Given the description of an element on the screen output the (x, y) to click on. 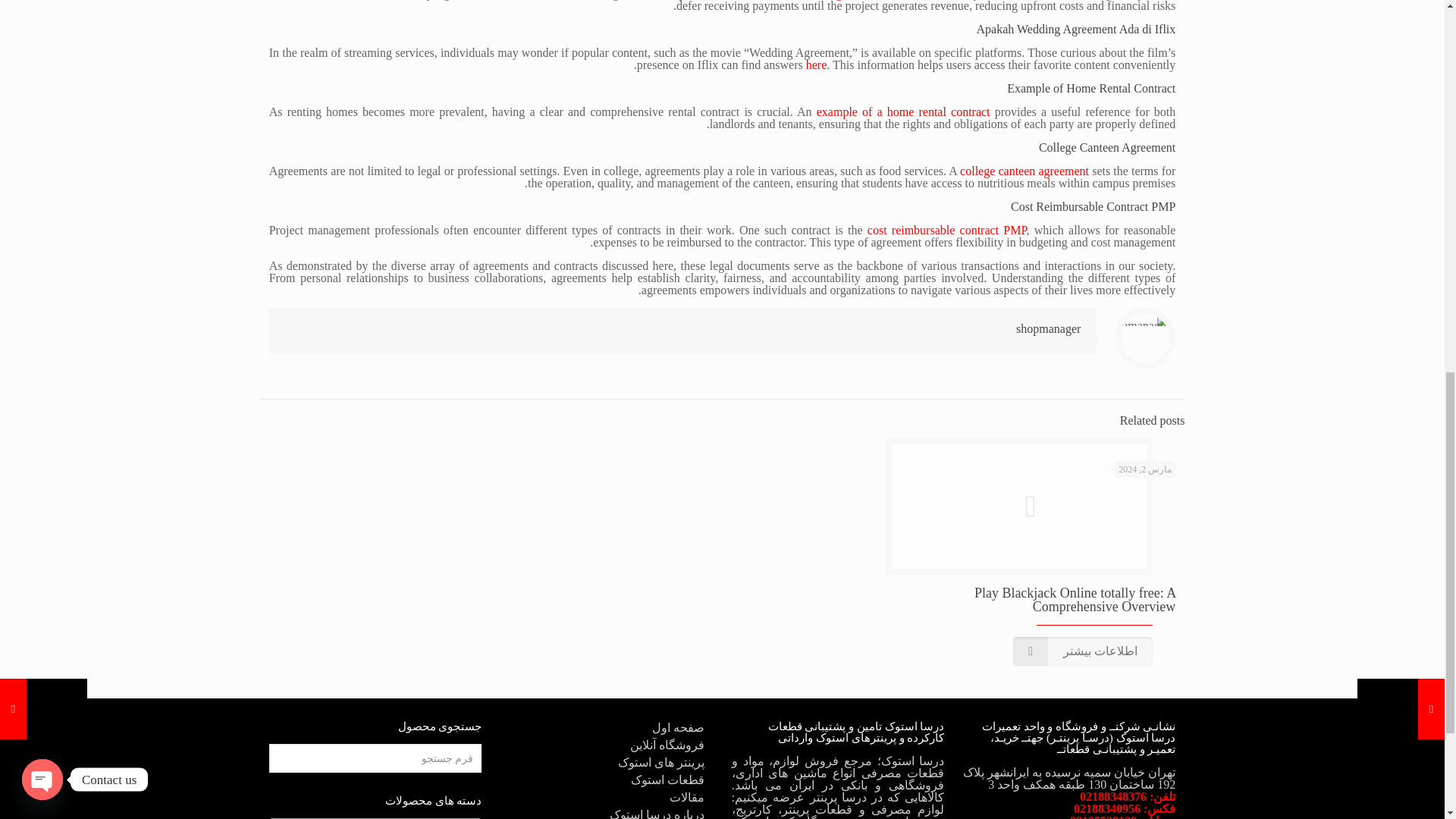
cost reimbursable contract PMP (946, 229)
college canteen agreement (1024, 170)
shopmanager (1048, 328)
Play Blackjack Online totally free: A Comprehensive Overview (1074, 599)
example of a home rental contract (903, 111)
here (816, 64)
